Given the description of an element on the screen output the (x, y) to click on. 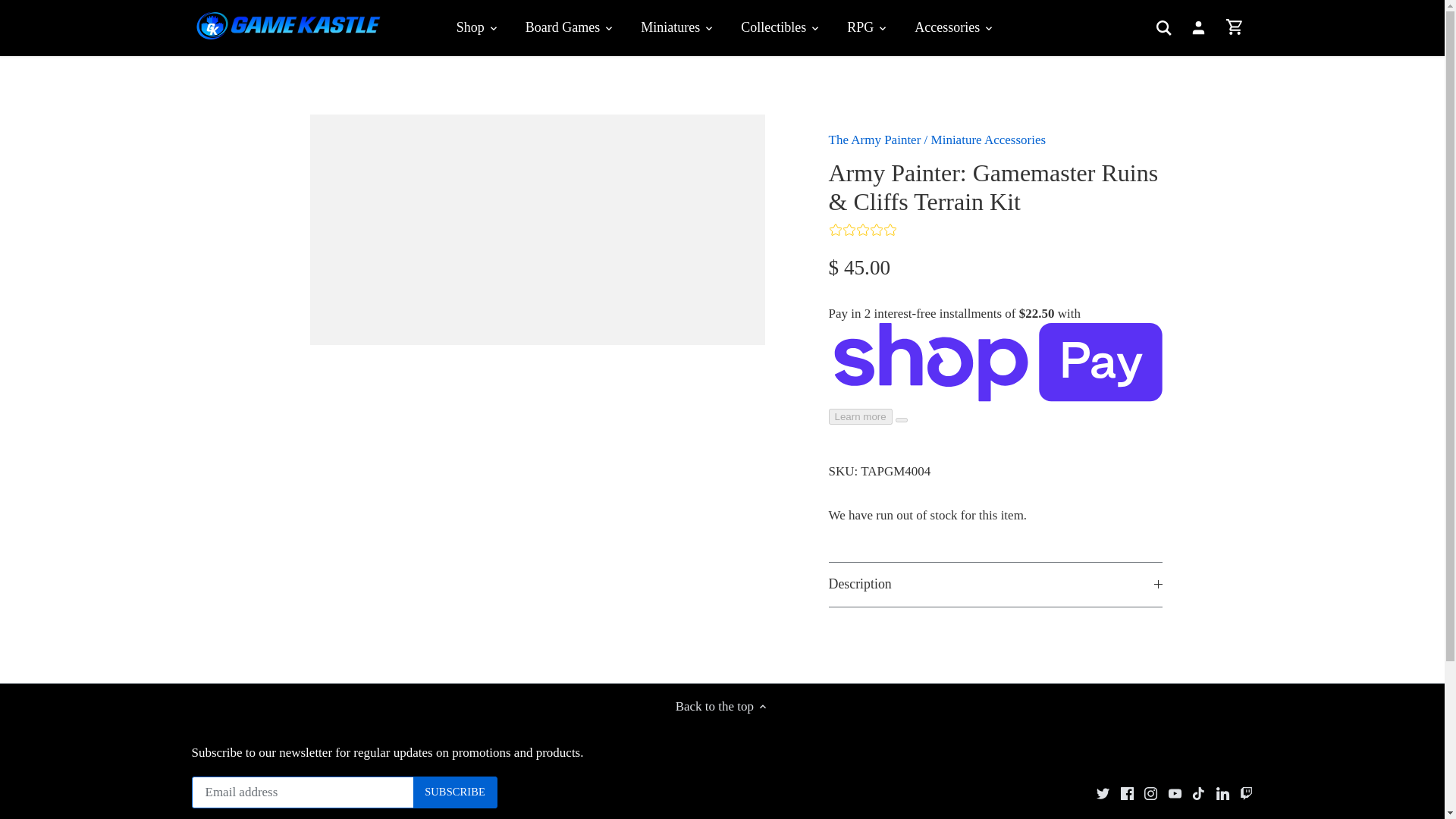
Go to cart (1234, 27)
Collectibles (772, 26)
Subscribe (455, 792)
Facebook (1127, 793)
RPG (859, 26)
Board Games (562, 26)
Miniatures (670, 26)
Instagram (1150, 793)
Youtube (1175, 793)
Shop (477, 26)
Twitter (1102, 793)
